Given the description of an element on the screen output the (x, y) to click on. 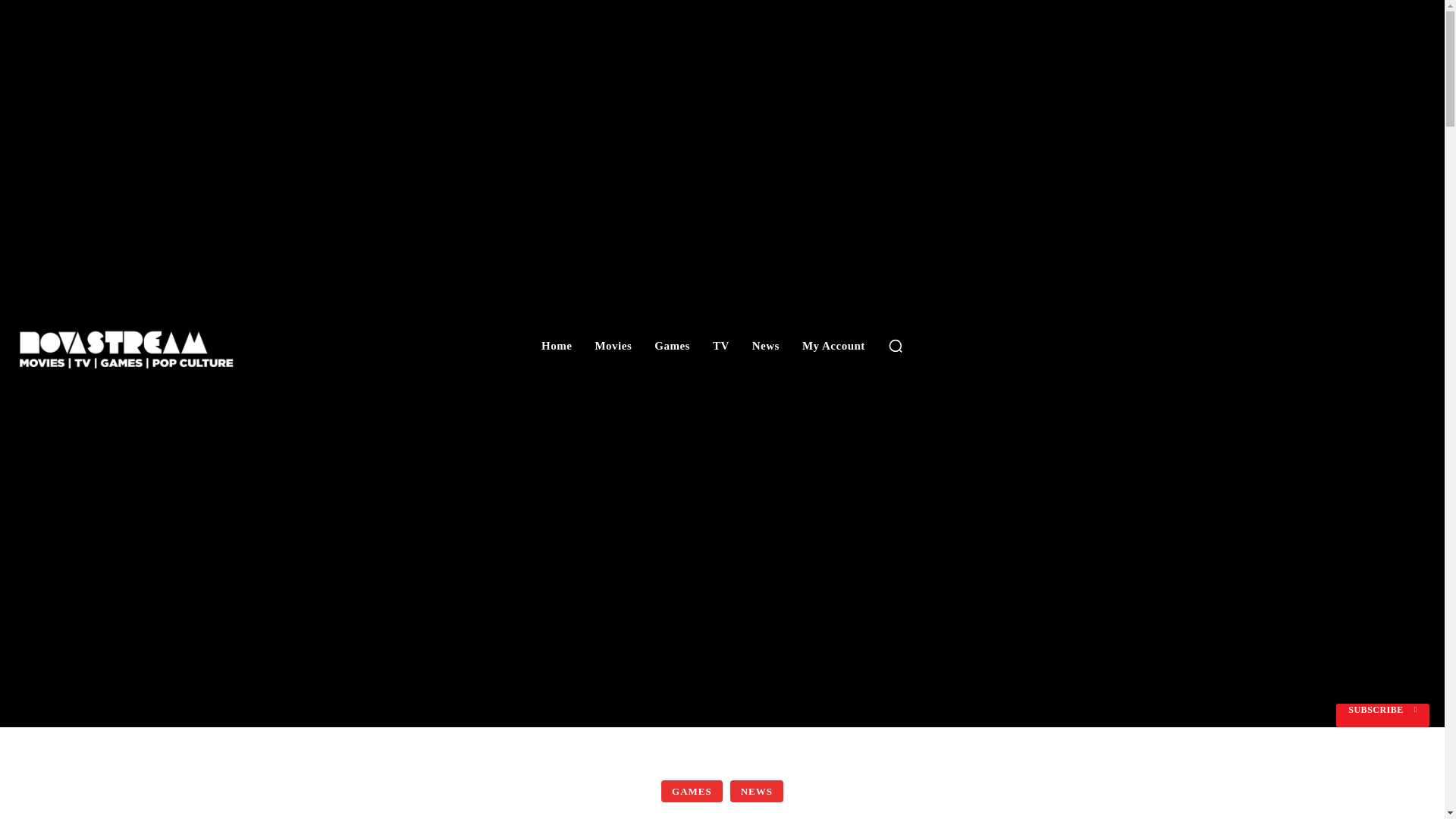
My Account (833, 345)
Subscribe (1382, 715)
SUBSCRIBE (1382, 715)
GAMES (691, 791)
NEWS (756, 791)
